Given the description of an element on the screen output the (x, y) to click on. 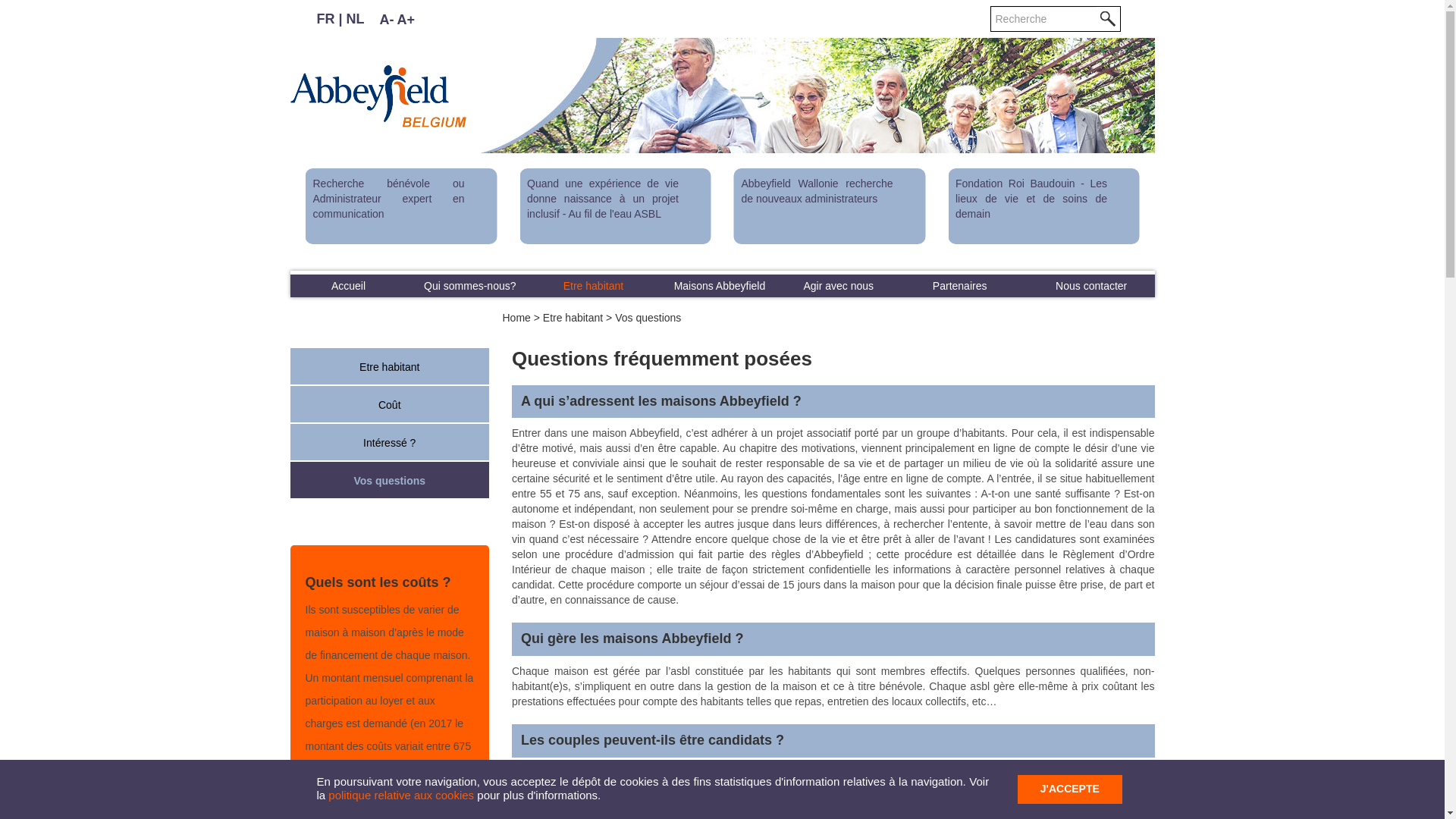
politique relative aux cookies Element type: text (400, 794)
FR Element type: text (325, 18)
NL Element type: text (355, 18)
Qui sommes-nous? Element type: text (470, 285)
Accueil Element type: text (347, 285)
Partenaires Element type: text (959, 285)
Nous contacter Element type: text (1091, 285)
Abbeyfield Wallonie recherche de nouveaux administrateurs Element type: text (277, 205)
Etre habitant Element type: text (593, 285)
Plus de FAQ Element type: text (388, 802)
Agir avec nous Element type: text (838, 285)
A- Element type: text (386, 19)
A+ Element type: text (405, 19)
Etre habitant Element type: text (389, 367)
Vendredi 23 juin, session d'info pour Vitrival Element type: text (693, 205)
J'ACCEPTE Element type: text (1069, 789)
Vos questions Element type: text (389, 481)
Maisons Abbeyfield Element type: text (719, 285)
